Given the description of an element on the screen output the (x, y) to click on. 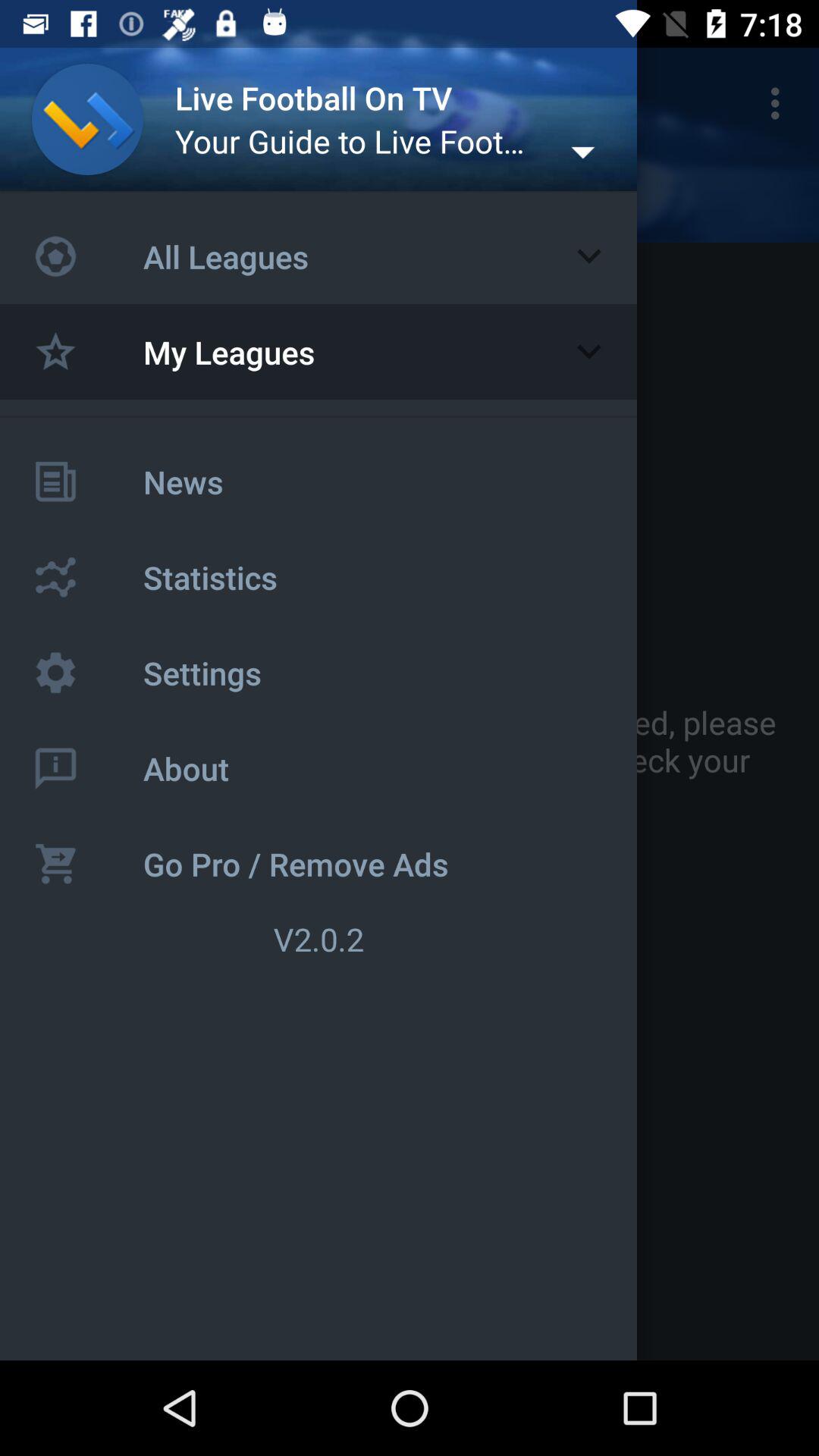
profile picture (87, 119)
